Given the description of an element on the screen output the (x, y) to click on. 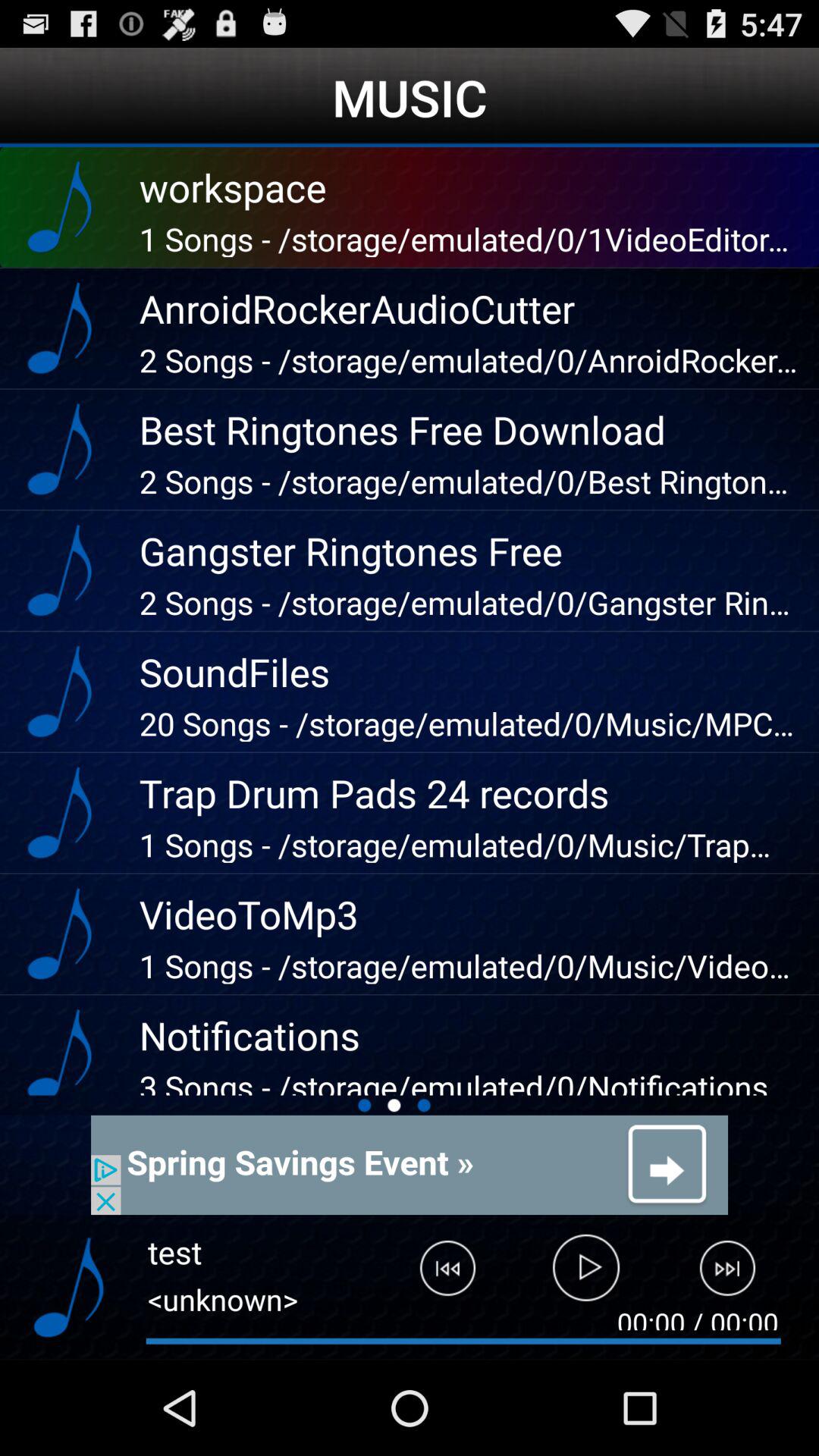
play the music (586, 1274)
